Given the description of an element on the screen output the (x, y) to click on. 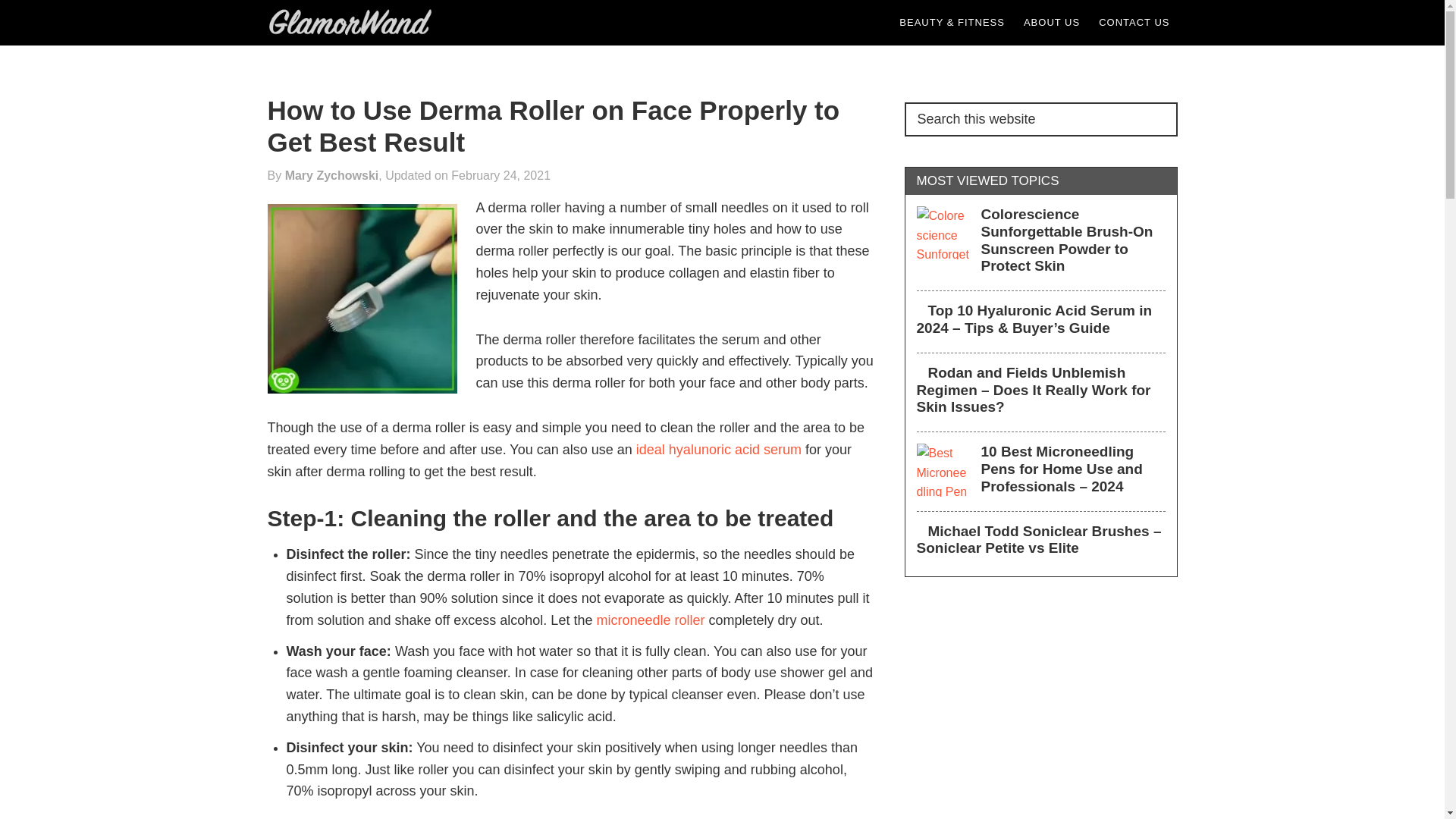
ABOUT US (1051, 22)
Glamor Wand (353, 22)
ideal hyalunoric acid serum (719, 449)
microneedle roller (649, 620)
CONTACT US (1133, 22)
